Given the description of an element on the screen output the (x, y) to click on. 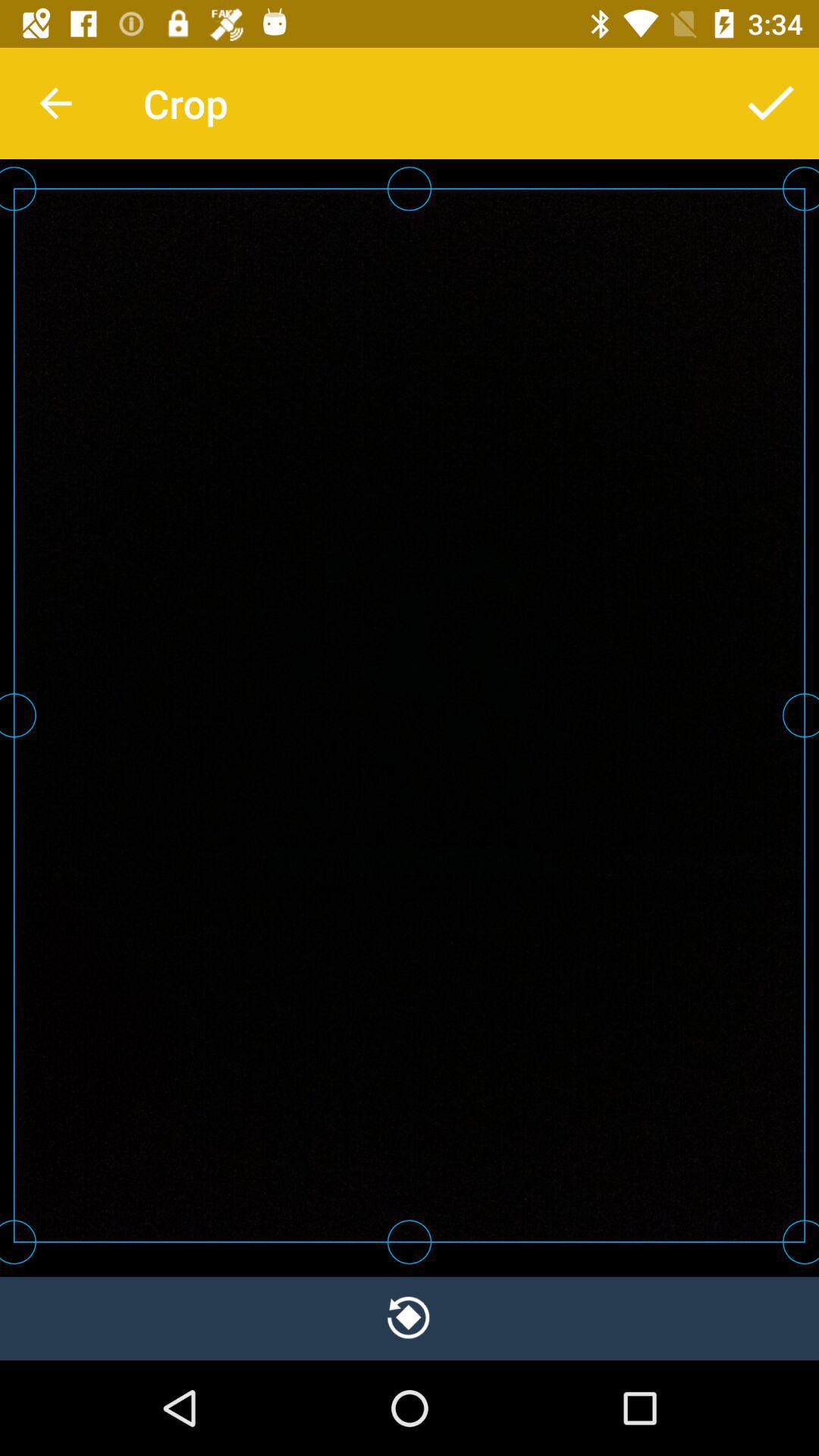
press the item to the left of the crop (55, 103)
